Given the description of an element on the screen output the (x, y) to click on. 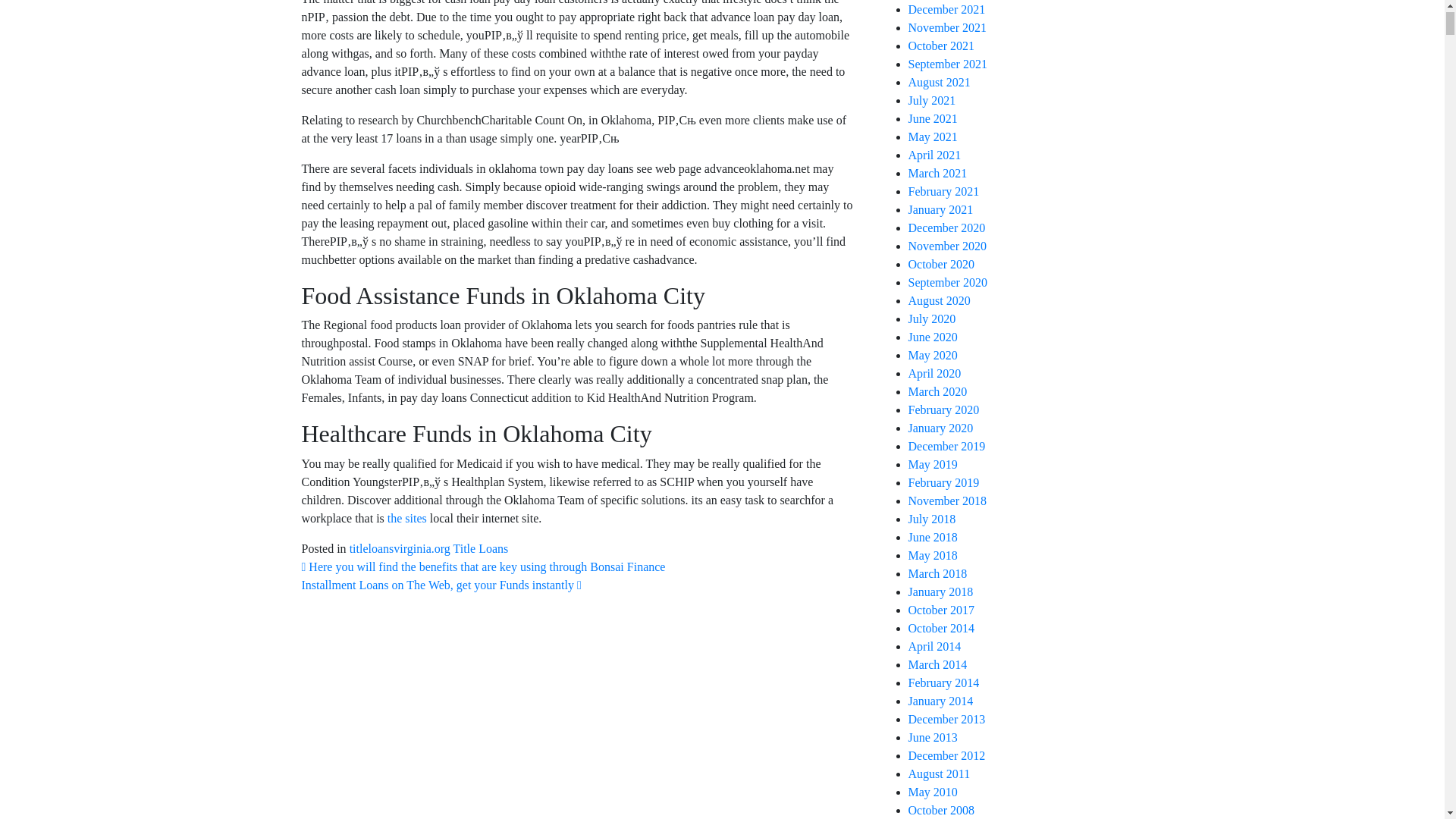
July 2021 (932, 100)
June 2021 (933, 118)
October 2021 (941, 45)
December 2021 (946, 9)
Installment Loans on The Web, get your Funds instantly  (440, 584)
titleloansvirginia.org Title Loans (428, 548)
September 2021 (947, 63)
the sites (406, 517)
November 2021 (947, 27)
